Given the description of an element on the screen output the (x, y) to click on. 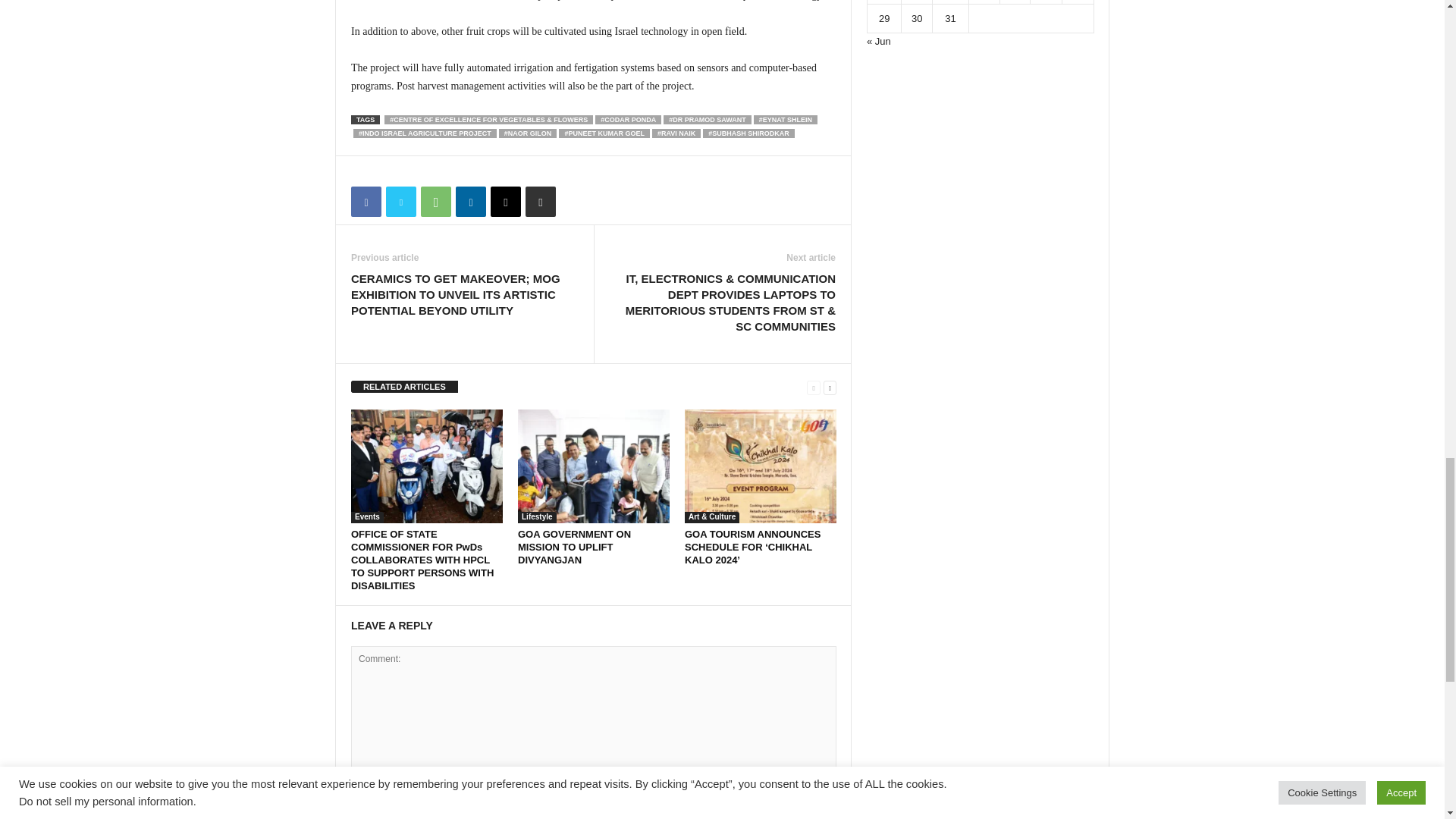
GOA GOVERNMENT ON MISSION TO UPLIFT DIVYANGJAN (593, 466)
GOA GOVERNMENT ON MISSION TO UPLIFT DIVYANGJAN (574, 546)
